Given the description of an element on the screen output the (x, y) to click on. 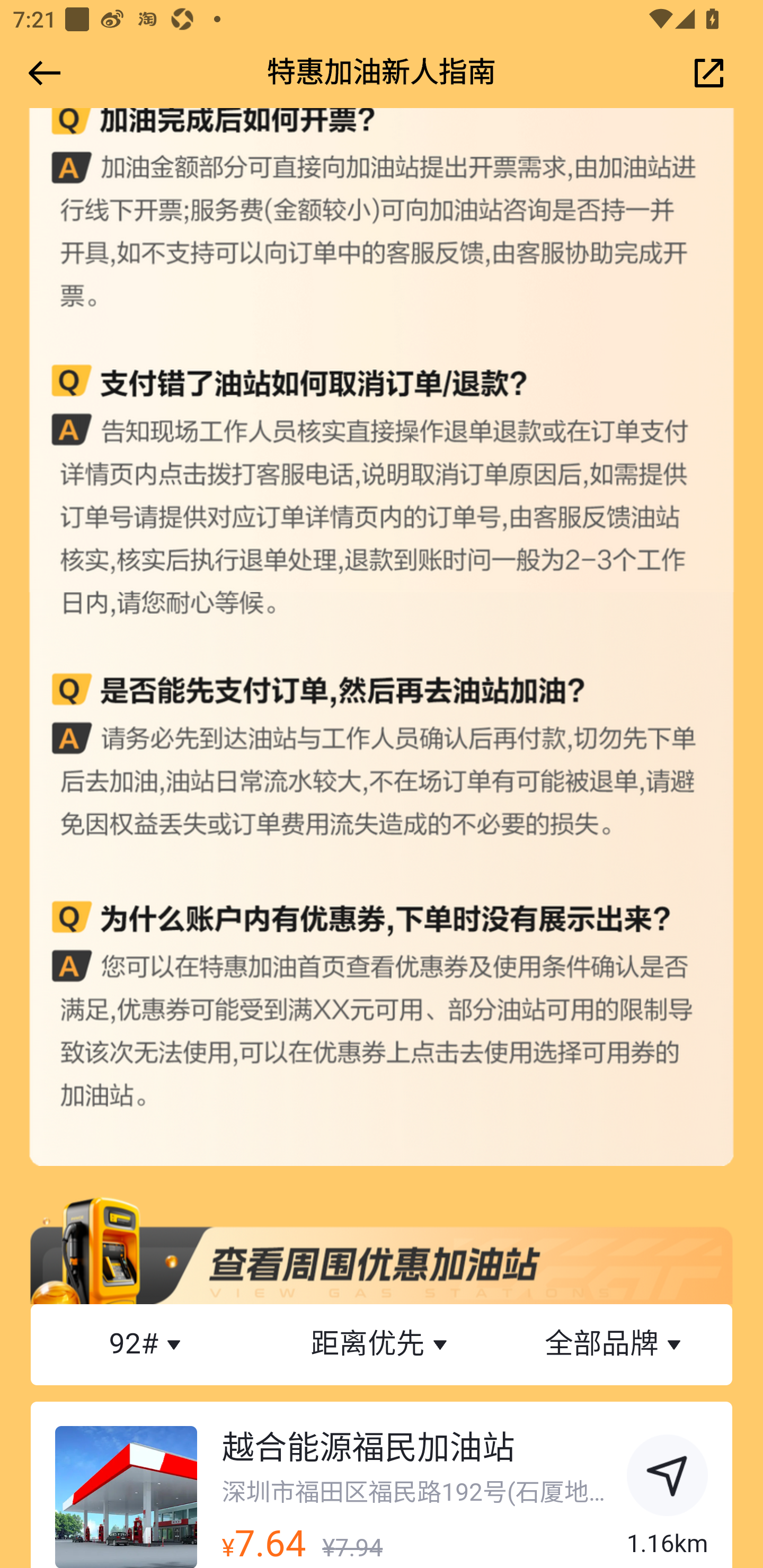
 (41, 72)
特惠加油新人指南 (381, 72)
5b742f323aac4a19ab6a3d762ccced50~750x0 (381, 1249)
92# (147, 1344)
距离优先 (381, 1344)
全部品牌 (614, 1344)
ba197686b7094d8888a43cd739b47287~noop (667, 1477)
